Given the description of an element on the screen output the (x, y) to click on. 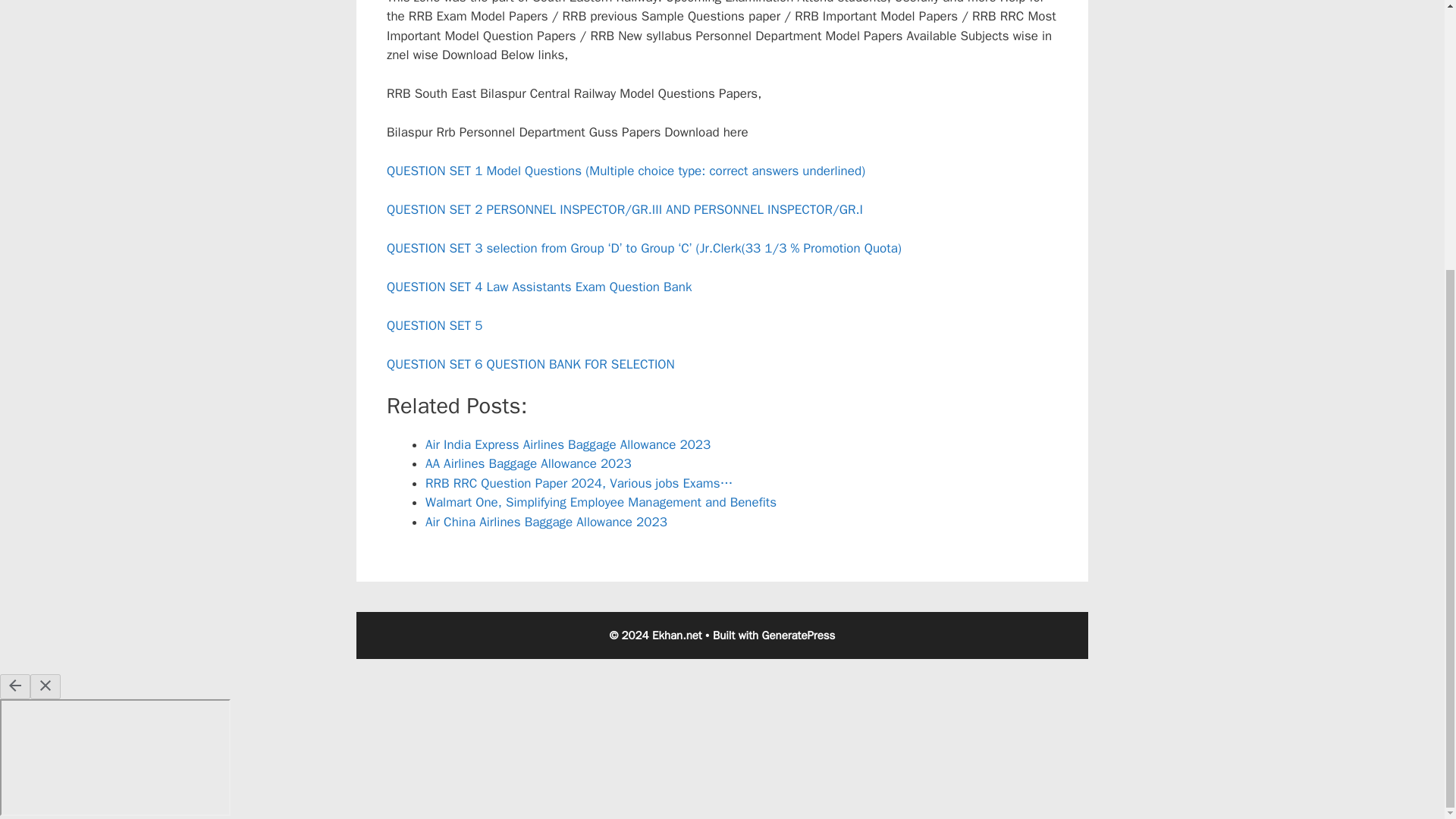
Walmart One, Simplifying Employee Management and Benefits (600, 502)
QUESTION SET 4 Law Assistants Exam Question Bank (539, 286)
QUESTION SET 5 (434, 325)
GeneratePress (798, 635)
Air China Airlines Baggage Allowance 2023 (545, 521)
Air India Express Airlines Baggage Allowance 2023 (567, 444)
AA Airlines Baggage Allowance 2023 (528, 463)
QUESTION SET 6 QUESTION BANK FOR SELECTION (531, 364)
